Given the description of an element on the screen output the (x, y) to click on. 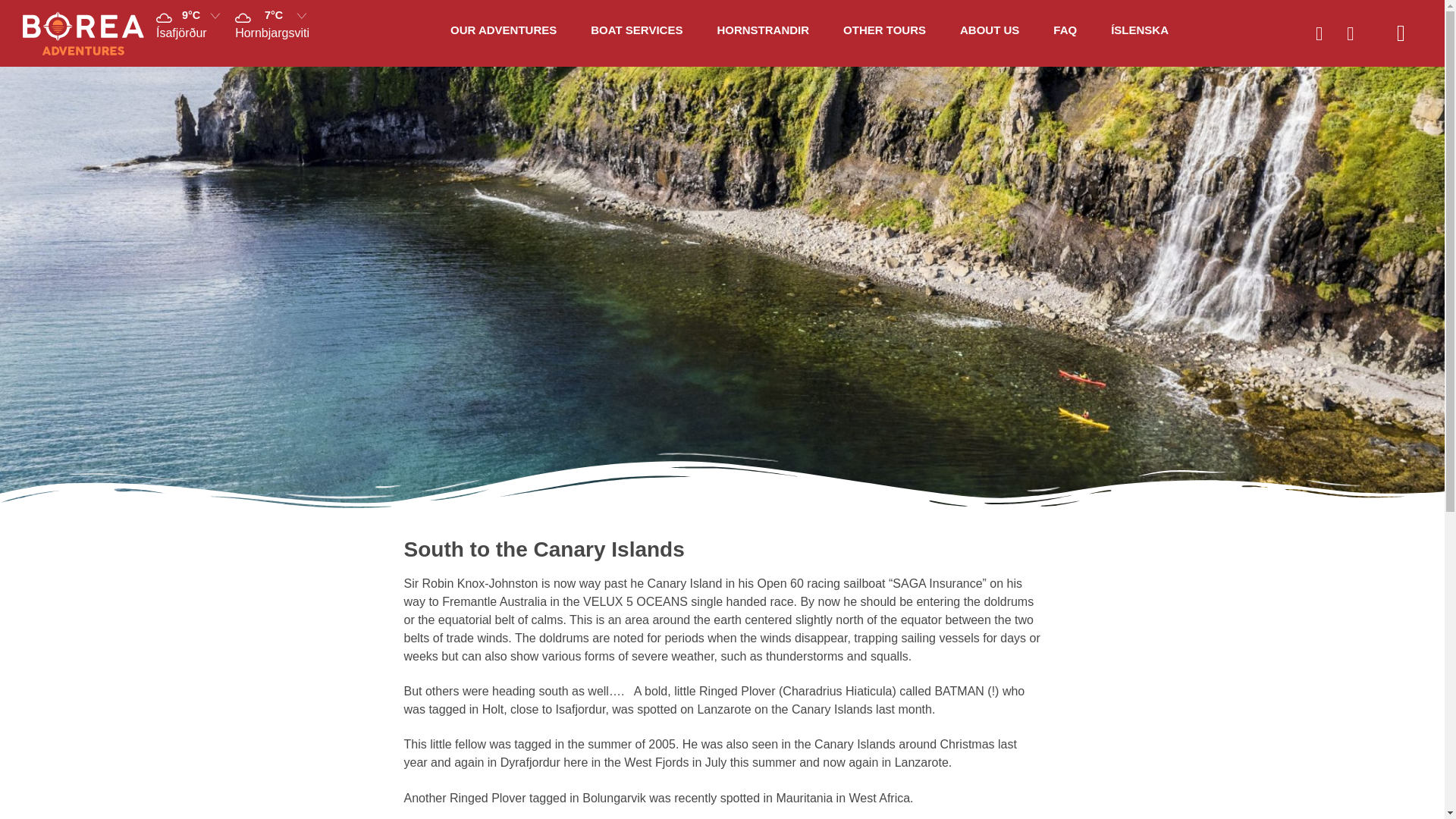
ABOUT US (989, 30)
OTHER TOURS (884, 30)
OUR ADVENTURES (502, 30)
HORNSTRANDIR (762, 30)
FAQ (1064, 30)
BOAT SERVICES (636, 30)
